Given the description of an element on the screen output the (x, y) to click on. 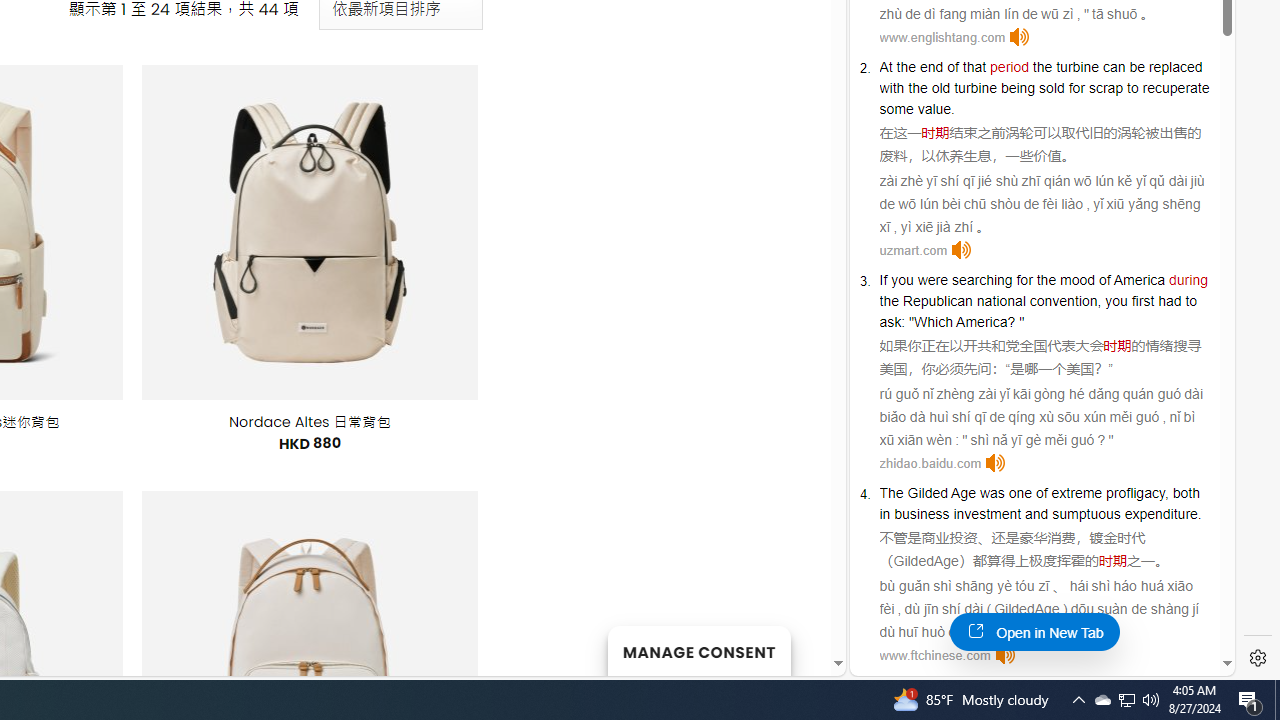
first (1142, 300)
was (991, 493)
turbine (1077, 66)
Which (933, 321)
had (1169, 300)
Click to listen (1004, 655)
you (1115, 300)
expenditure (1160, 514)
